Given the description of an element on the screen output the (x, y) to click on. 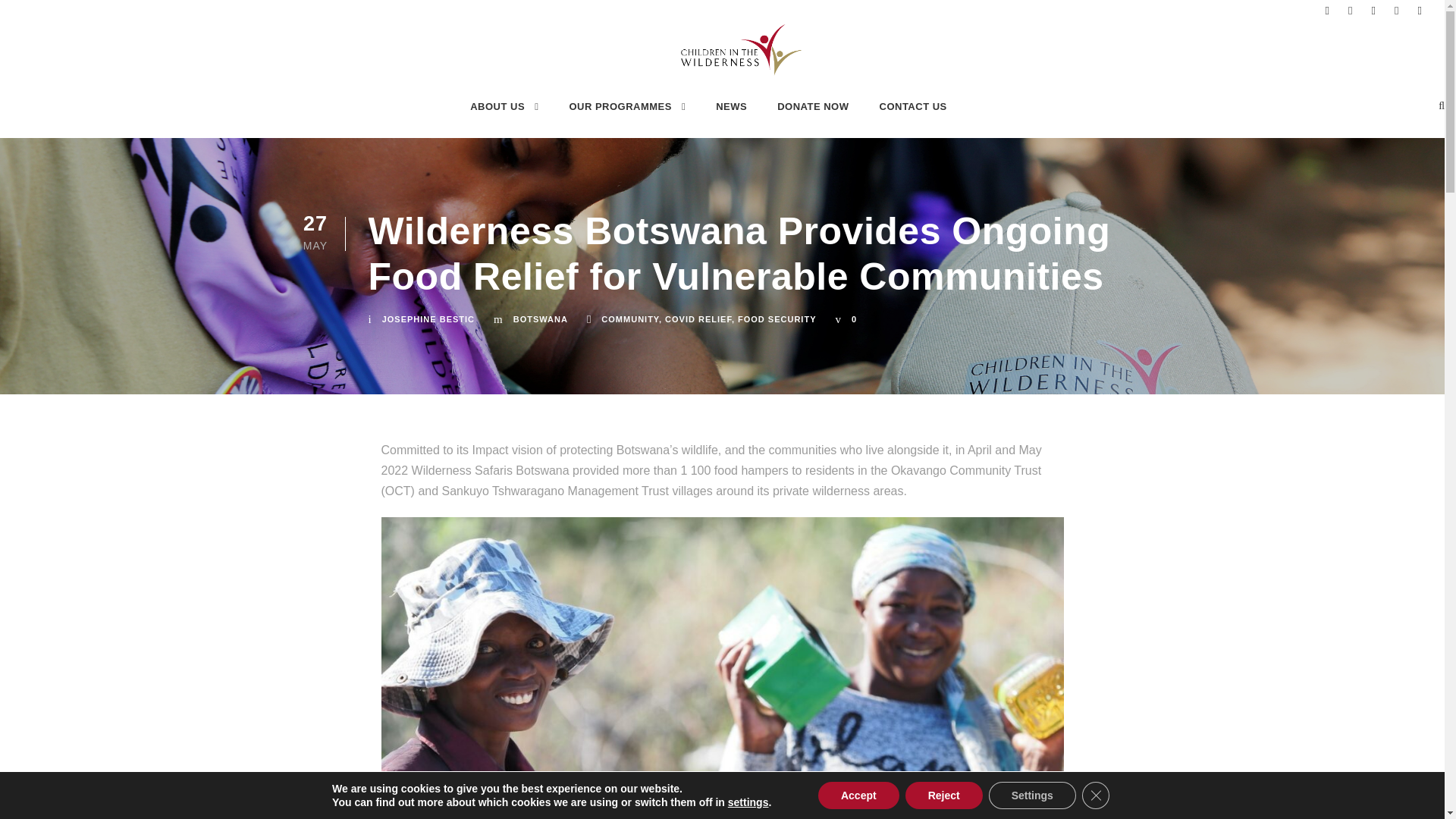
Posts by Josephine Bestic (427, 318)
Children in the Wilderness (741, 50)
